Given the description of an element on the screen output the (x, y) to click on. 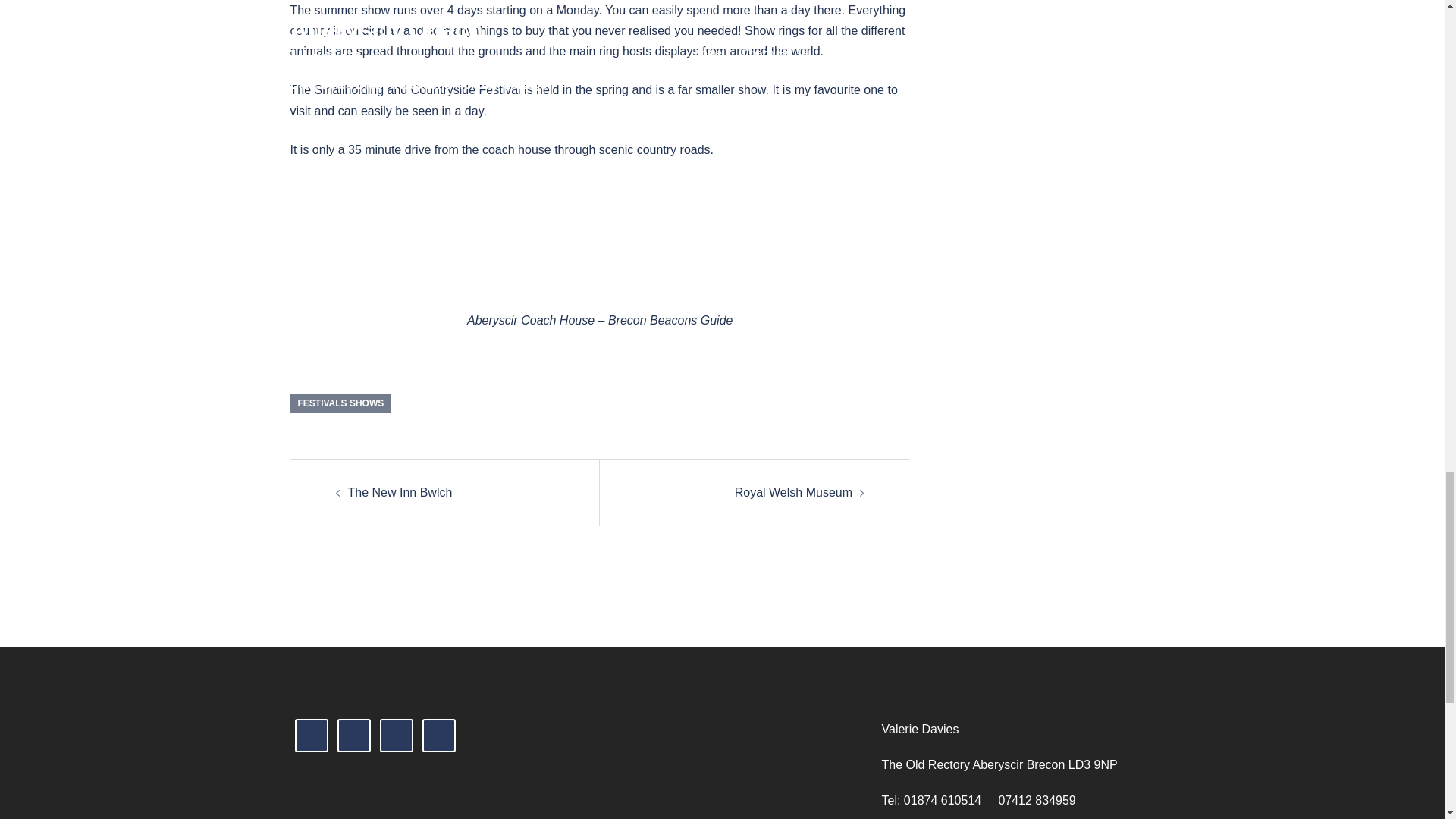
FESTIVALS SHOWS (340, 402)
Royal Welsh Museum (793, 492)
The New Inn Bwlch (399, 492)
